Given the description of an element on the screen output the (x, y) to click on. 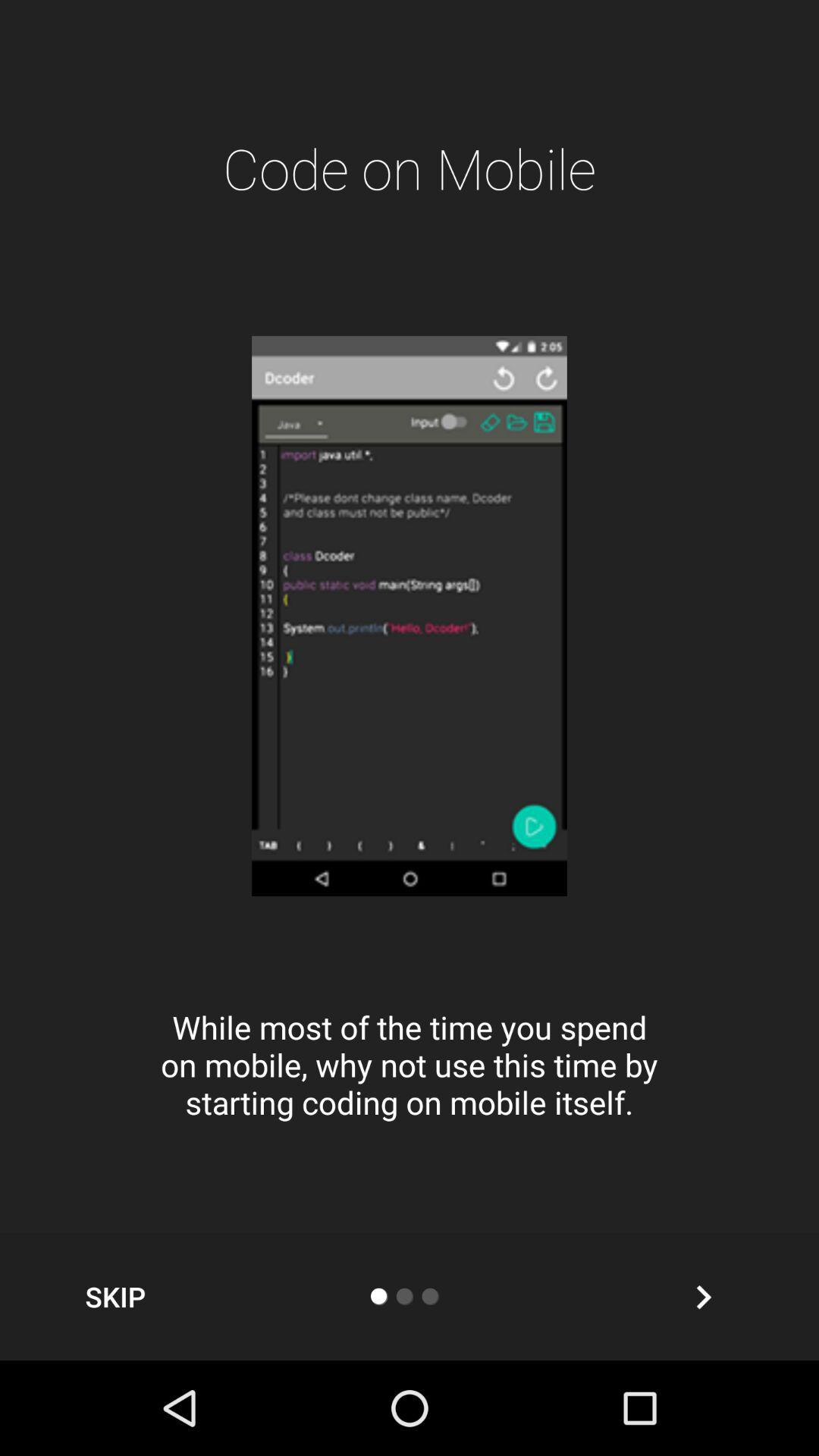
turn on icon below the while most of item (114, 1296)
